Given the description of an element on the screen output the (x, y) to click on. 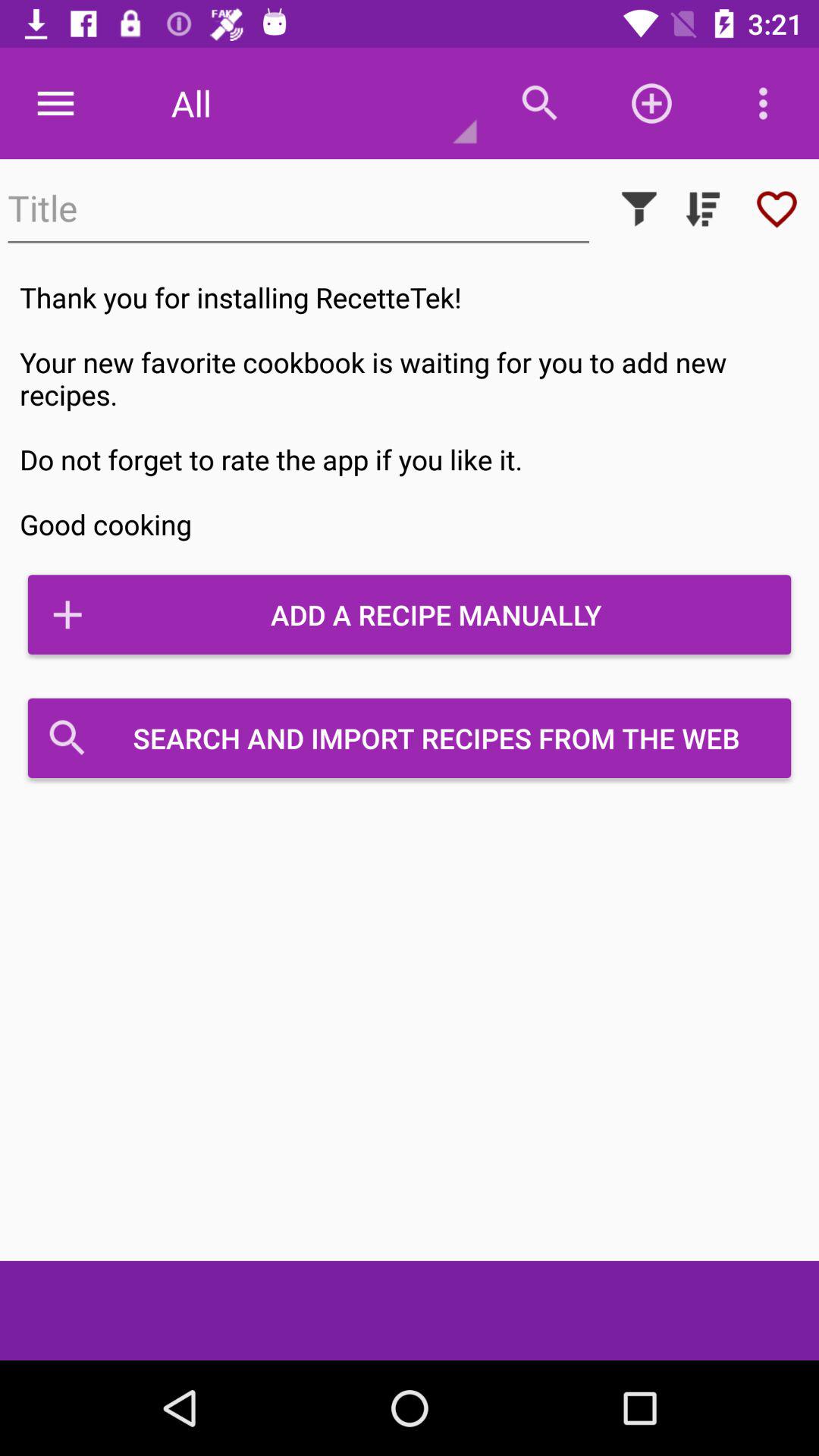
press item above thank you for item (298, 208)
